Given the description of an element on the screen output the (x, y) to click on. 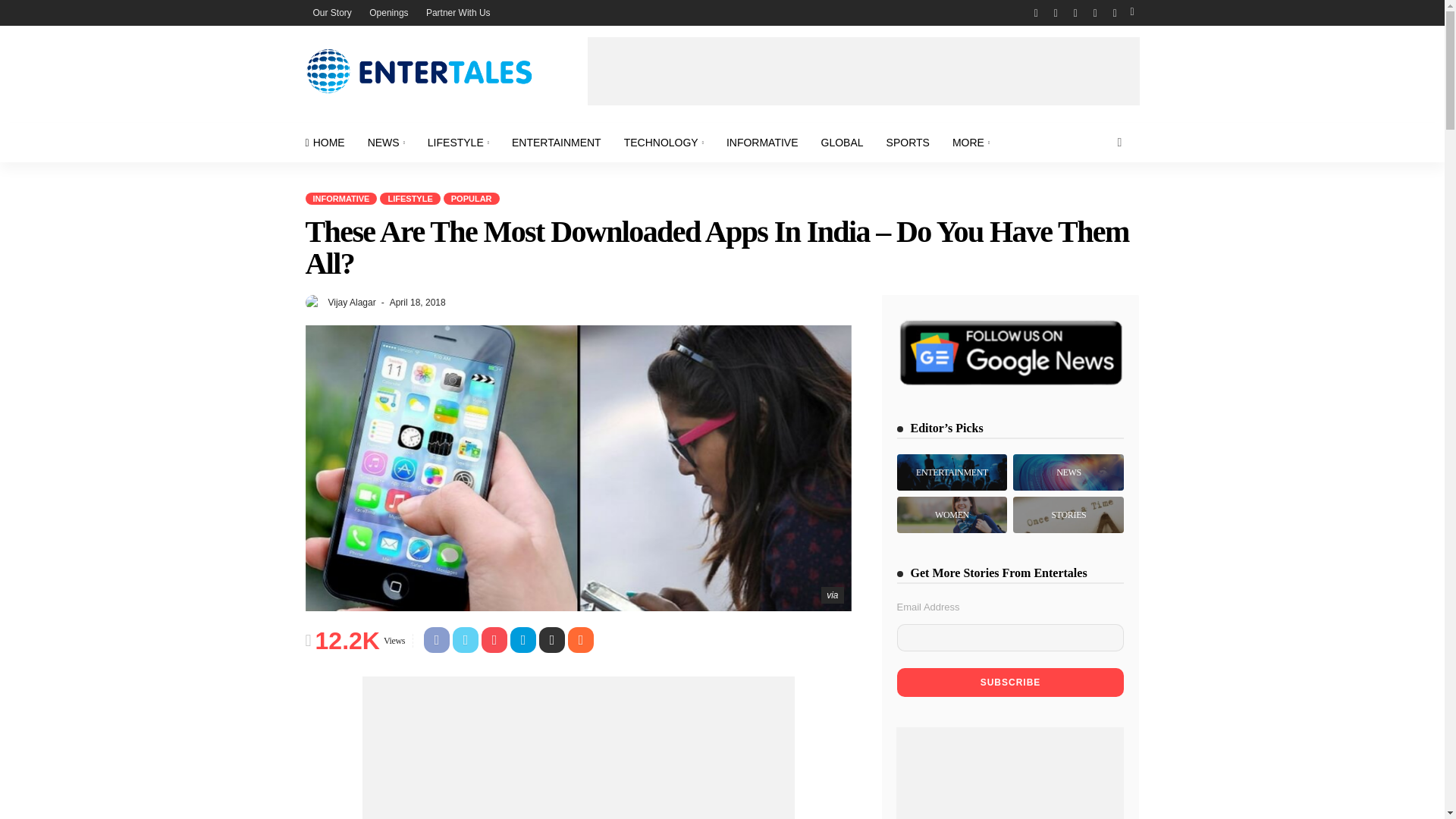
Partner With Us (458, 12)
Openings (387, 12)
Subscribe (1010, 682)
Our Story (331, 12)
